Given the description of an element on the screen output the (x, y) to click on. 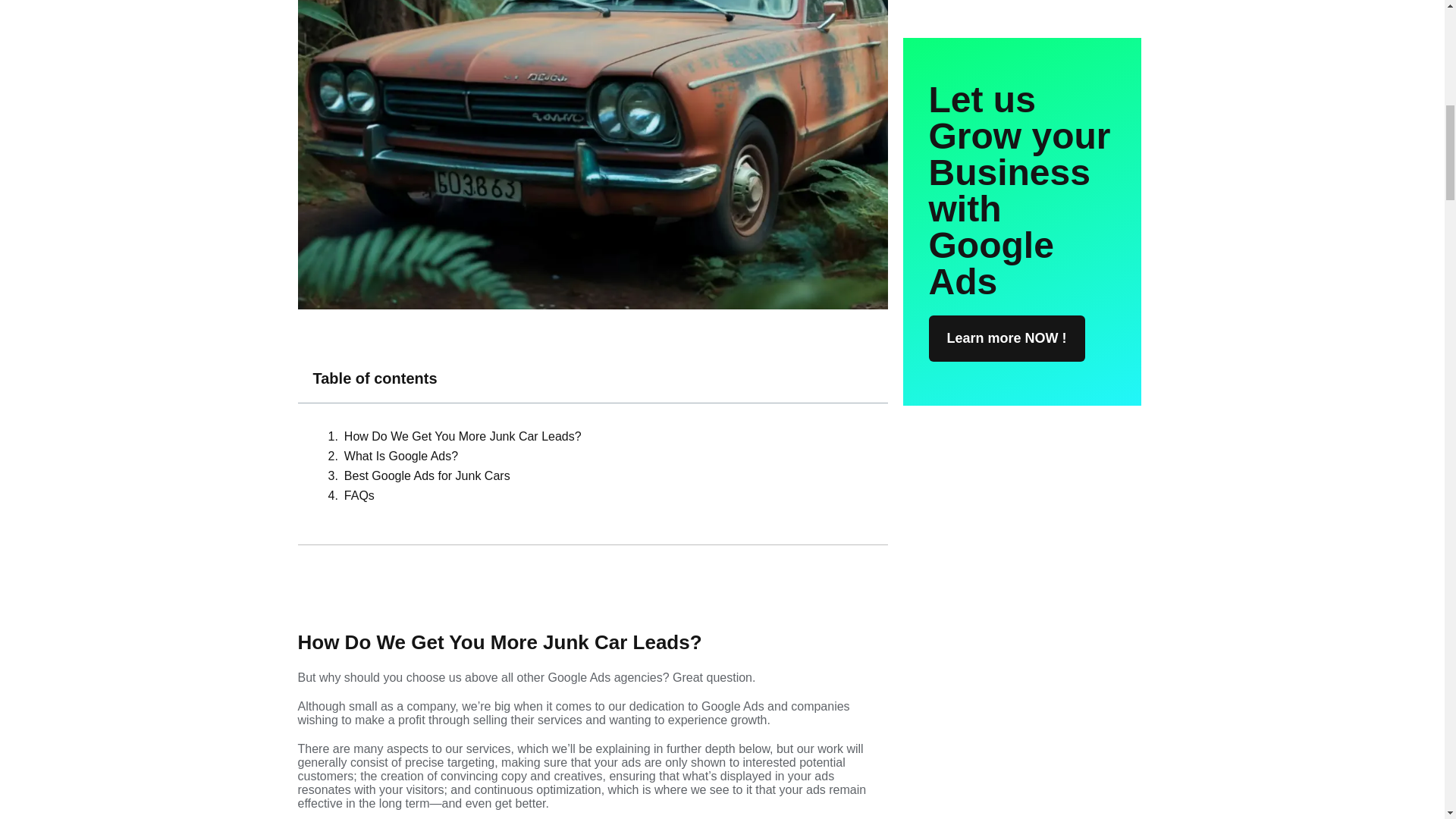
FAQs (358, 495)
Best Google Ads for Junk Cars (427, 476)
How Do We Get You More Junk Car Leads? (461, 436)
What Is Google Ads? (400, 456)
